Given the description of an element on the screen output the (x, y) to click on. 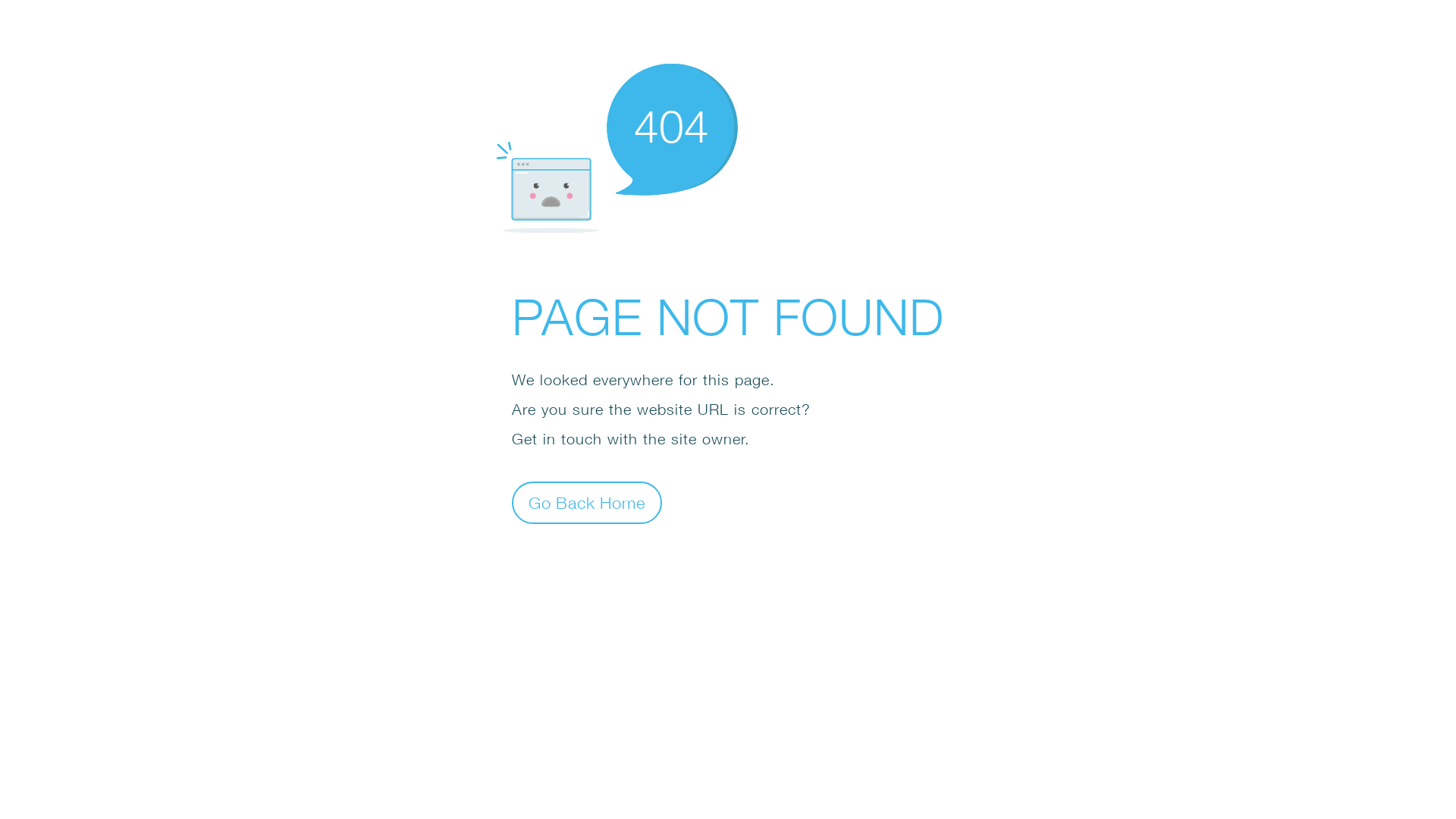
Go Back Home Element type: text (586, 502)
